Given the description of an element on the screen output the (x, y) to click on. 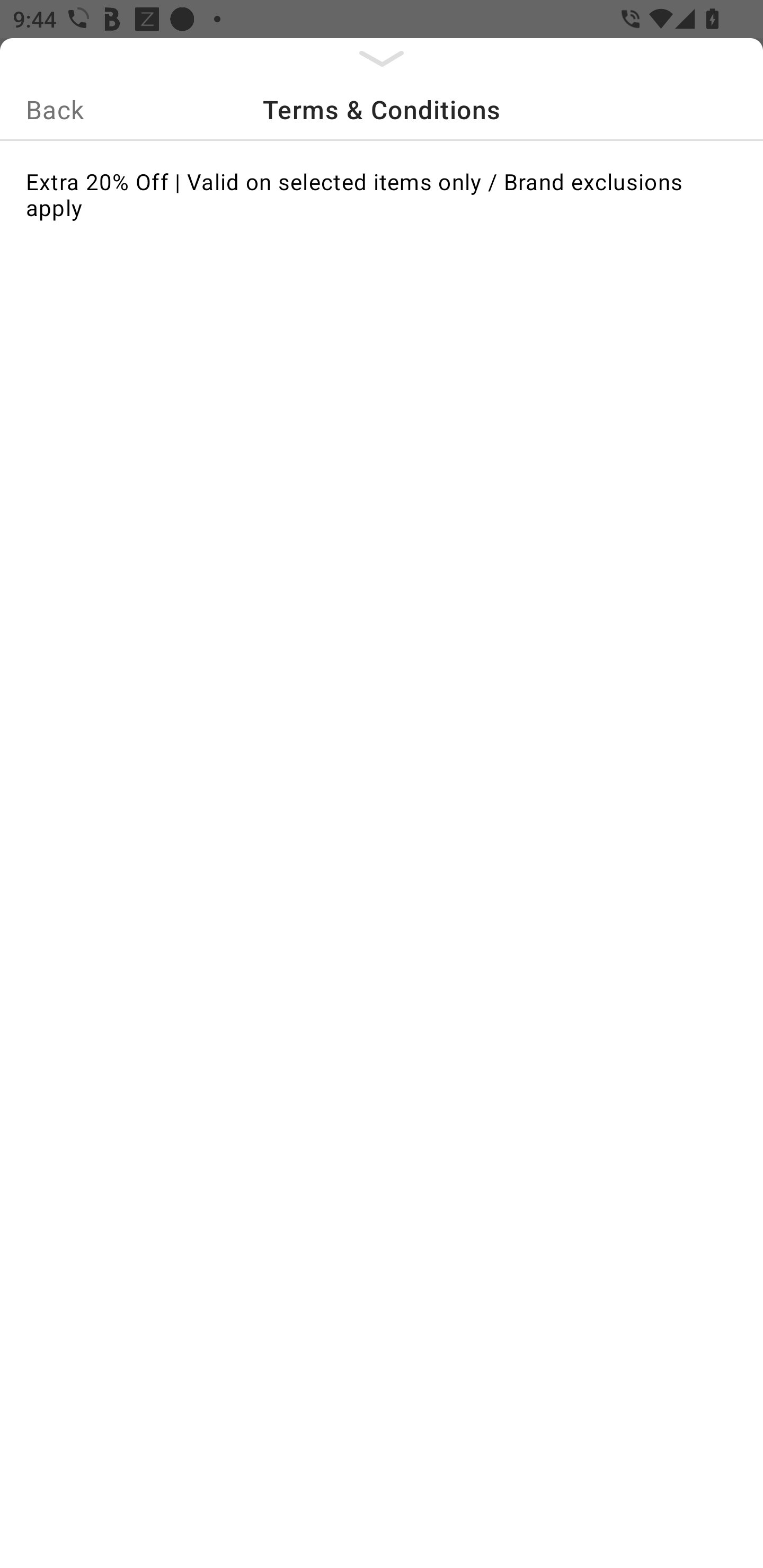
Back (54, 109)
